Given the description of an element on the screen output the (x, y) to click on. 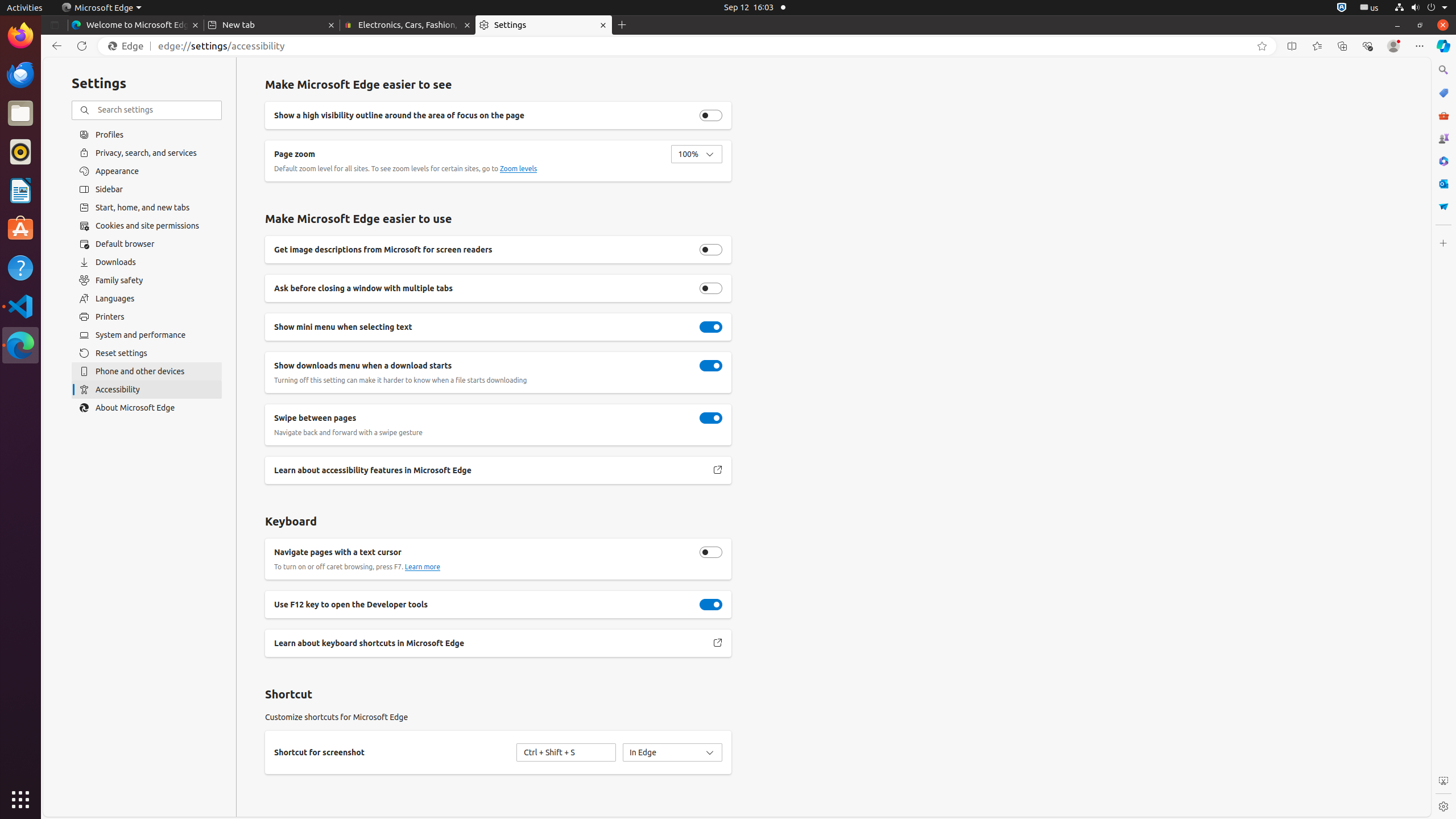
Customize Element type: push-button (1443, 243)
Rhythmbox Element type: push-button (20, 151)
New tab Element type: page-tab (271, 25)
Ubuntu Software Element type: push-button (20, 229)
:1.72/StatusNotifierItem Element type: menu (1341, 7)
